Given the description of an element on the screen output the (x, y) to click on. 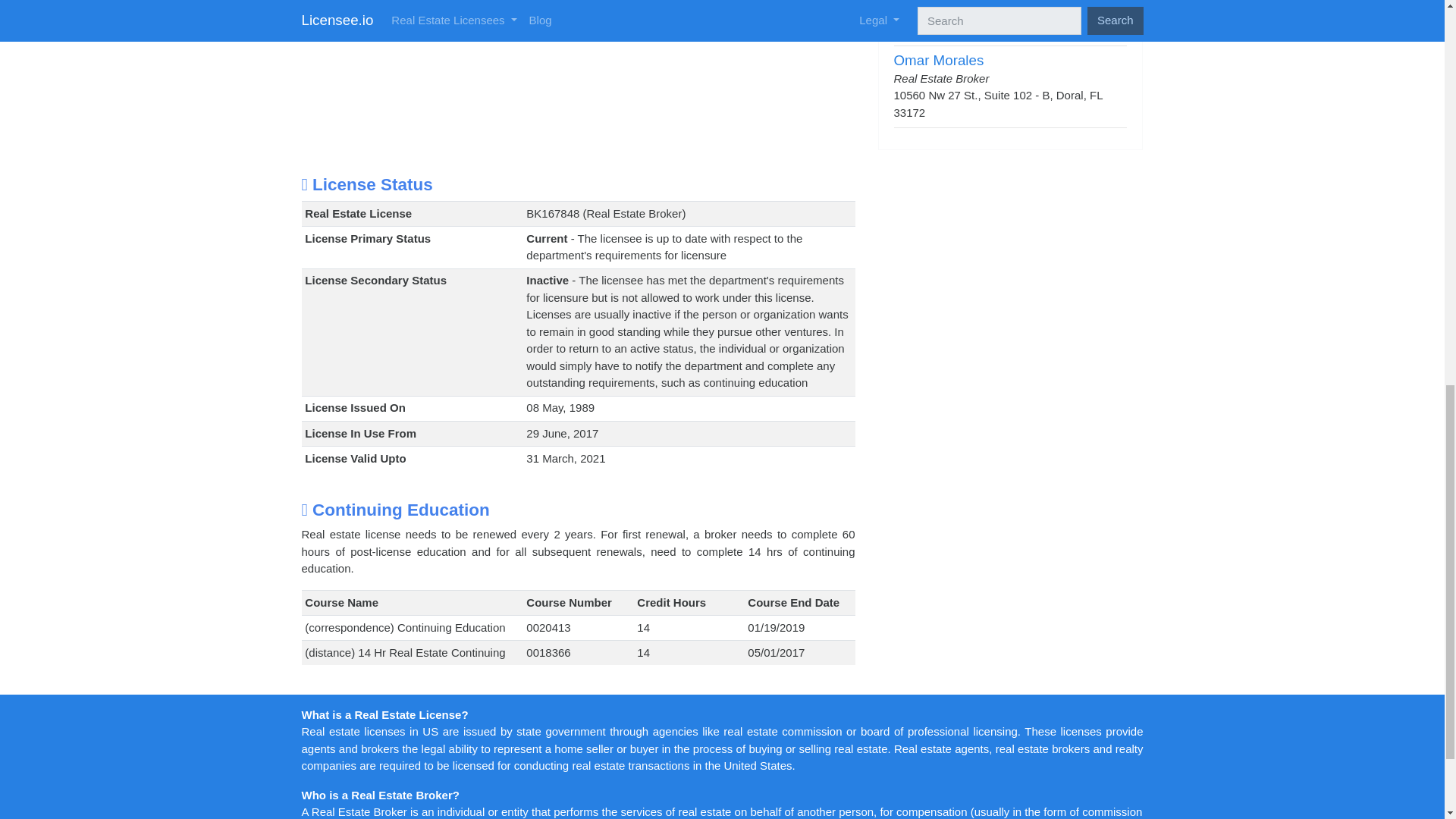
Omar Morales (938, 59)
Advertisement (578, 78)
Olga F Bellas (935, 2)
